Given the description of an element on the screen output the (x, y) to click on. 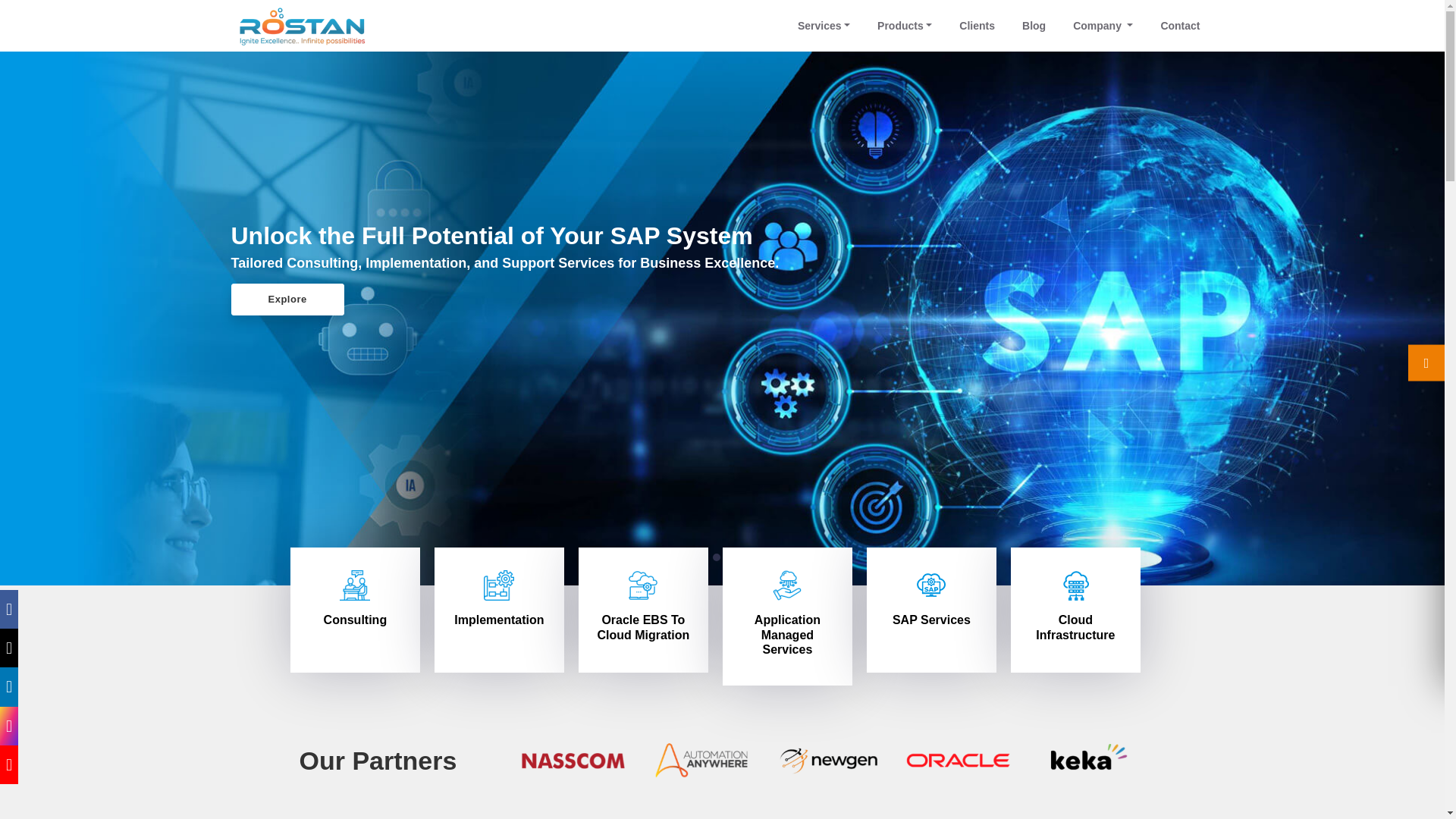
Explore (286, 299)
Products (903, 25)
Company (1102, 25)
Clients (977, 25)
Blog (1033, 25)
Services (824, 25)
Contact (1179, 25)
